Given the description of an element on the screen output the (x, y) to click on. 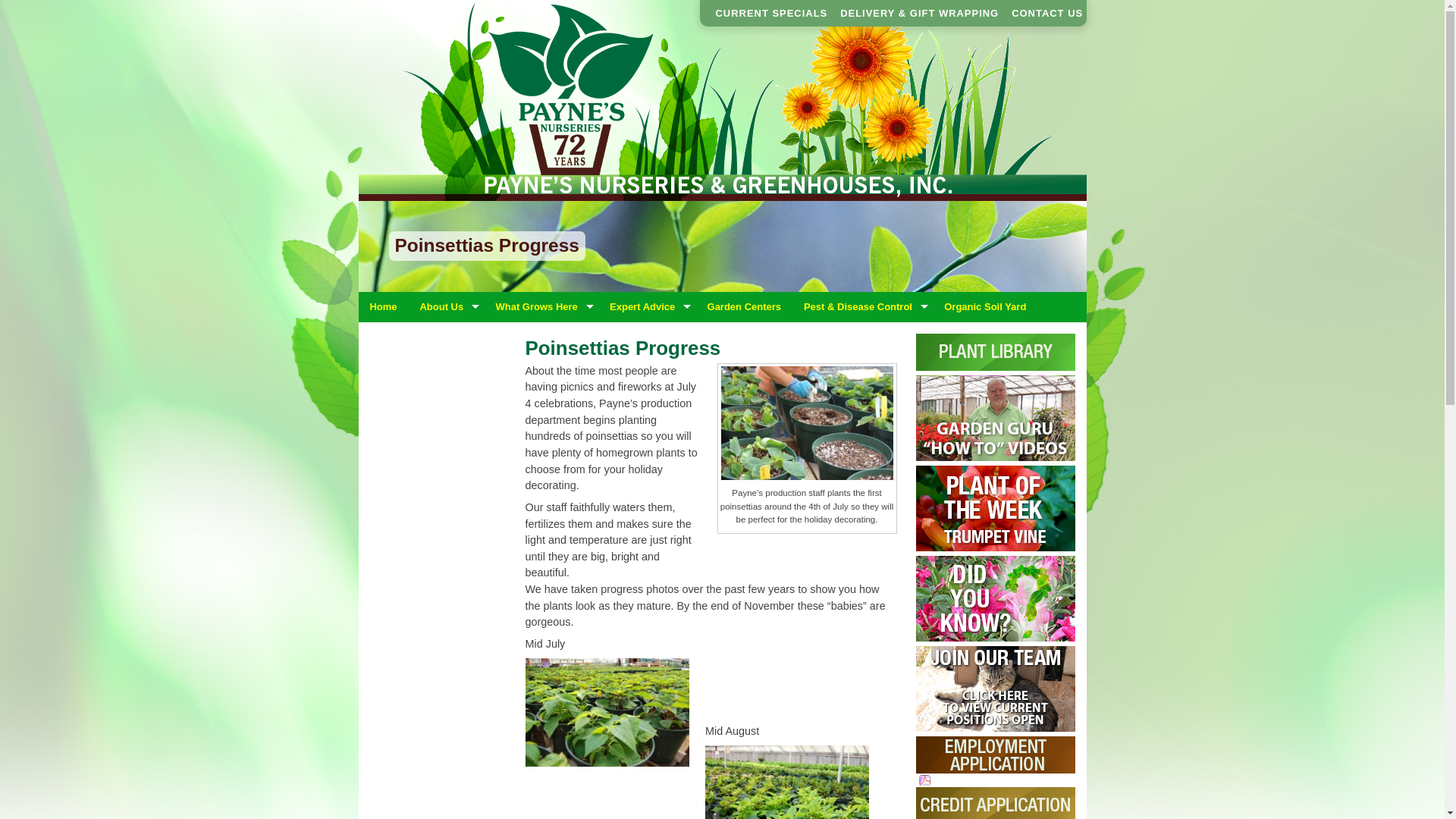
Home (382, 306)
About Us (445, 306)
CURRENT SPECIALS (772, 12)
CONTACT US (1047, 12)
Expert Advice (646, 306)
What Grows Here (541, 306)
